Given the description of an element on the screen output the (x, y) to click on. 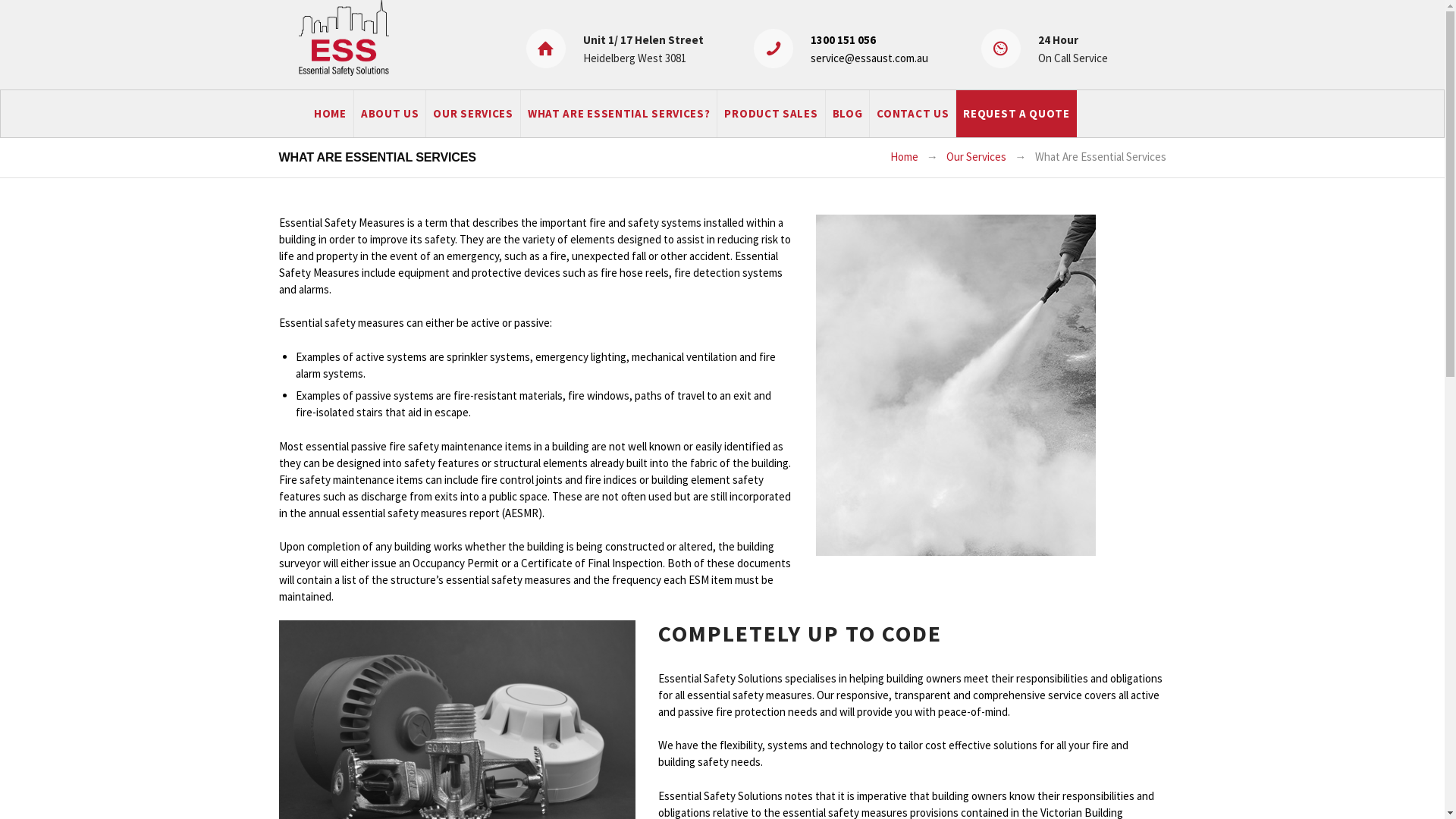
OUR SERVICES Element type: text (472, 113)
REQUEST A QUOTE Element type: text (1015, 113)
1300 151 056 Element type: text (842, 39)
WHAT ARE ESSENTIAL SERVICES? Element type: text (618, 113)
service@essaust.com.au Element type: text (868, 57)
BLOG Element type: text (847, 113)
Home Element type: text (904, 157)
HOME Element type: text (330, 113)
ABOUT US Element type: text (389, 113)
PRODUCT SALES Element type: text (770, 113)
Our Services Element type: text (976, 157)
CONTACT US Element type: text (912, 113)
